Given the description of an element on the screen output the (x, y) to click on. 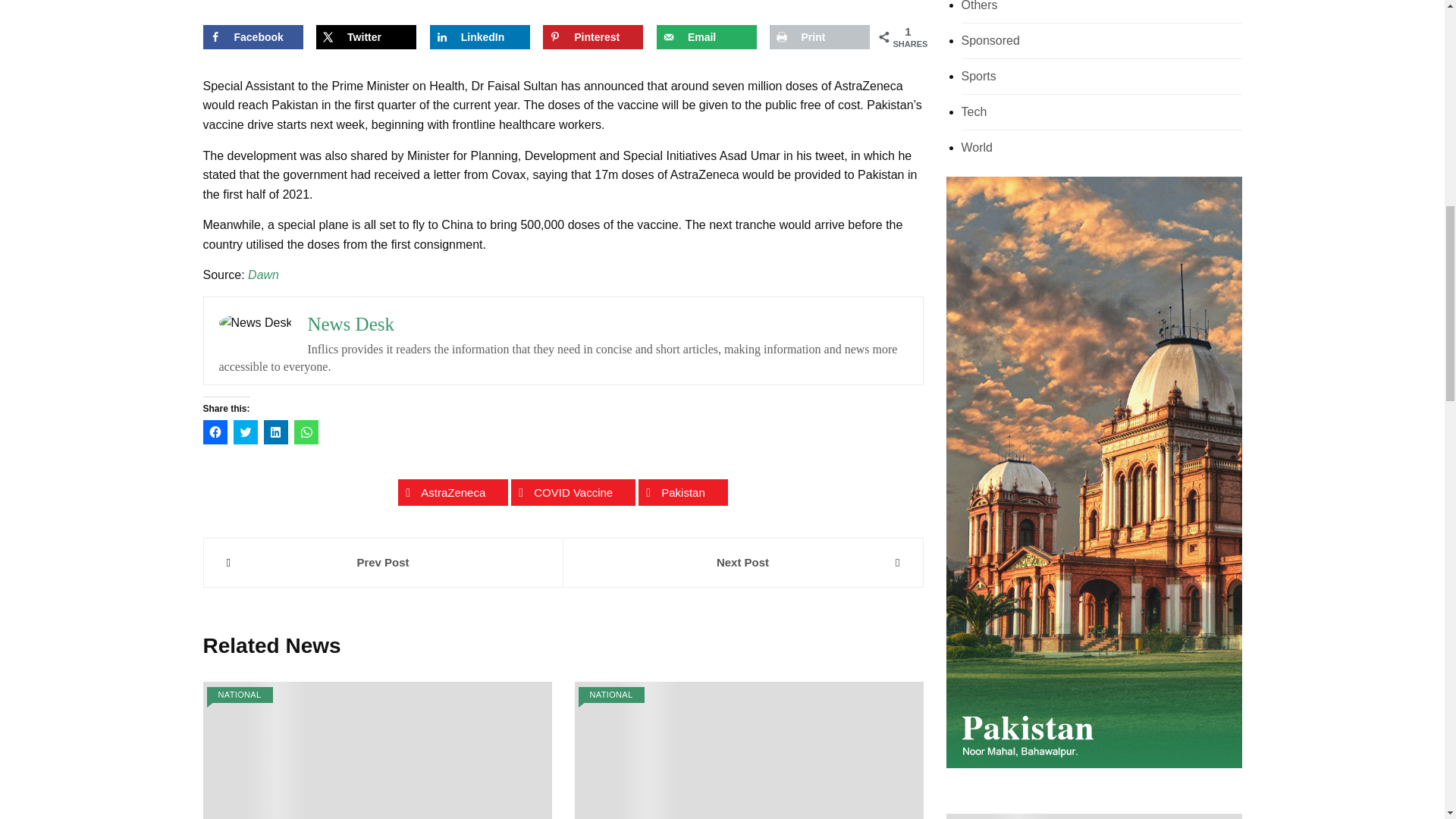
Twitter (365, 37)
Email (706, 37)
Click to share on Facebook (215, 432)
Share on Facebook (252, 37)
Dawn (263, 274)
LinkedIn (479, 37)
Pinterest (593, 37)
Click to share on WhatsApp (306, 432)
Facebook (252, 37)
Share on X (365, 37)
